Given the description of an element on the screen output the (x, y) to click on. 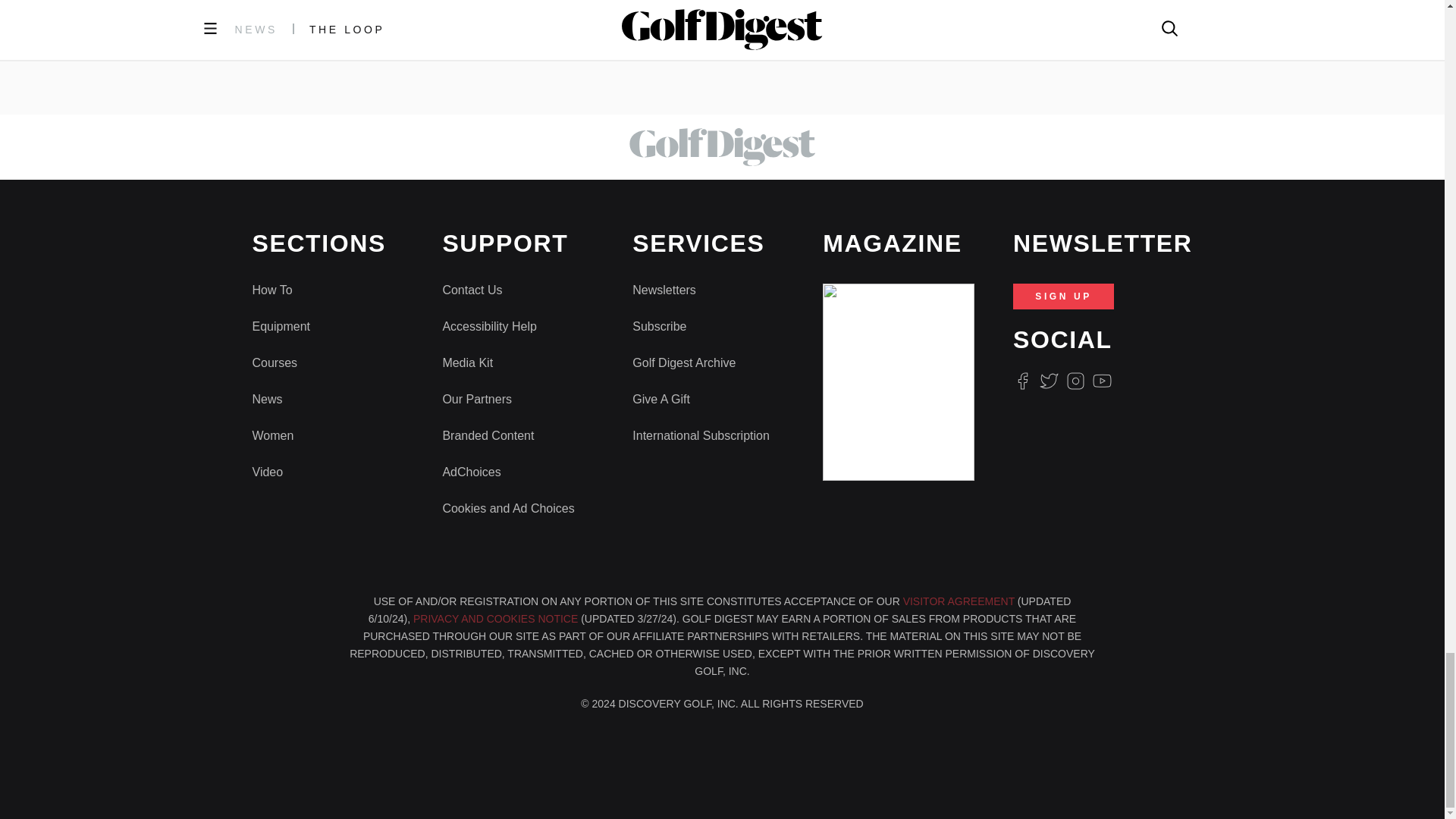
Facebook Logo (1022, 380)
Instagram Logo (1074, 380)
Twitter Logo (1048, 380)
Youtube Icon (1102, 380)
